Given the description of an element on the screen output the (x, y) to click on. 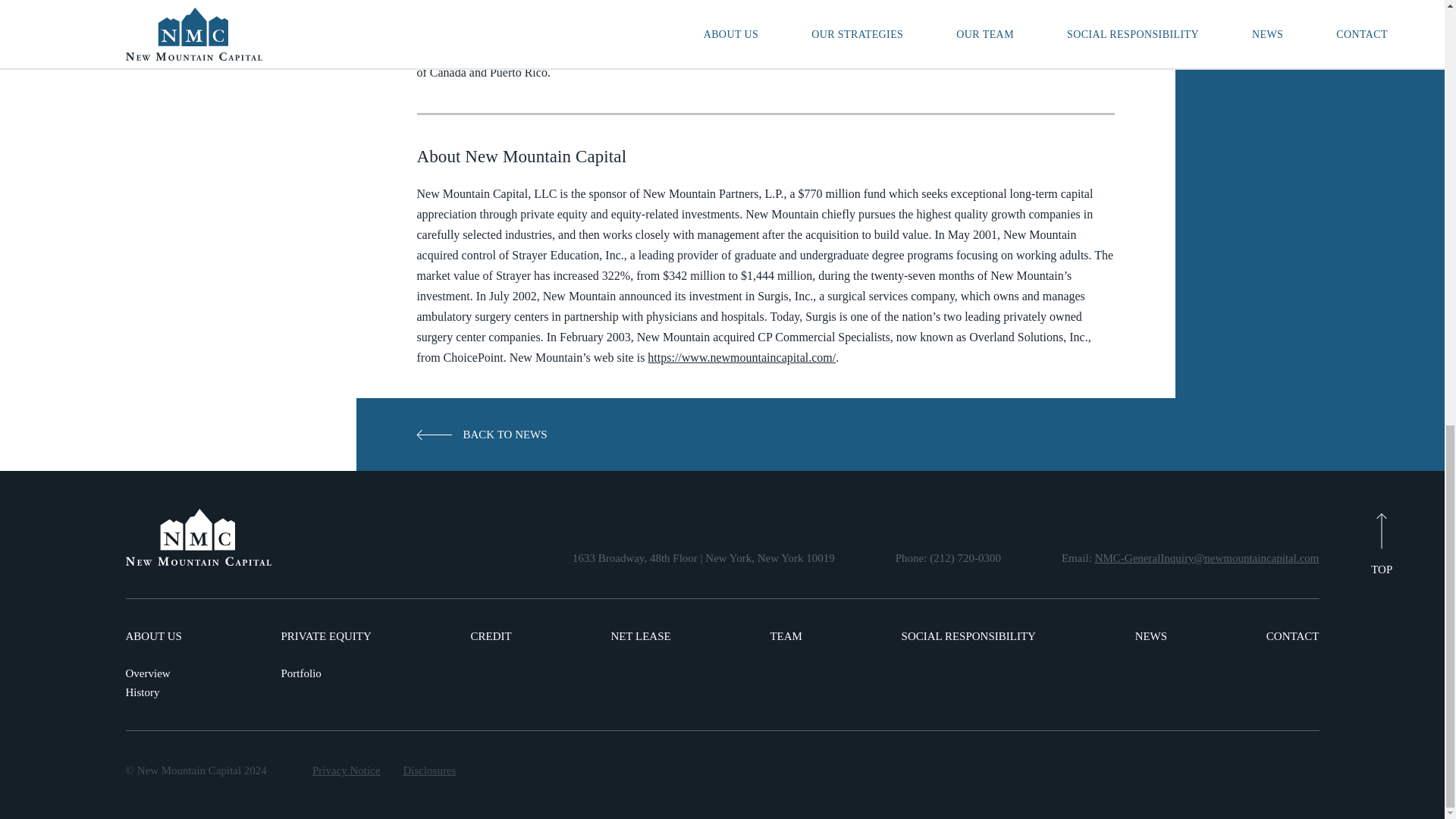
Disclosures (429, 770)
BACK TO NEWS (481, 434)
TEAM (786, 636)
History (153, 693)
Portfolio (326, 673)
Overview (153, 673)
PRIVATE EQUITY (326, 636)
CREDIT (491, 636)
Privacy Notice (346, 770)
CONTACT (1292, 636)
NET LEASE (639, 636)
SOCIAL RESPONSIBILITY (968, 636)
NEWS (1151, 636)
ABOUT US (153, 636)
